Given the description of an element on the screen output the (x, y) to click on. 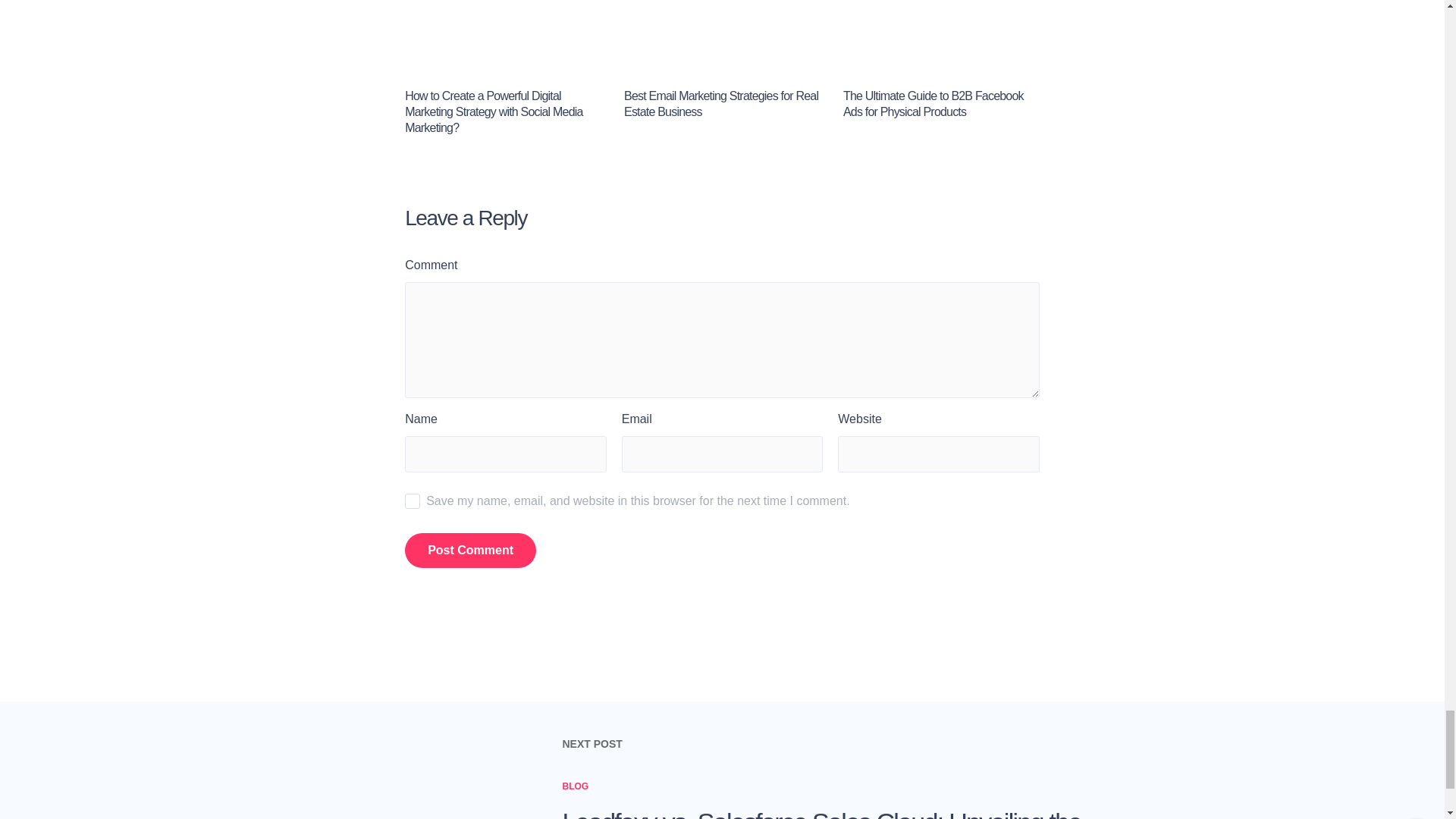
Post Comment (469, 550)
yes (412, 500)
